Given the description of an element on the screen output the (x, y) to click on. 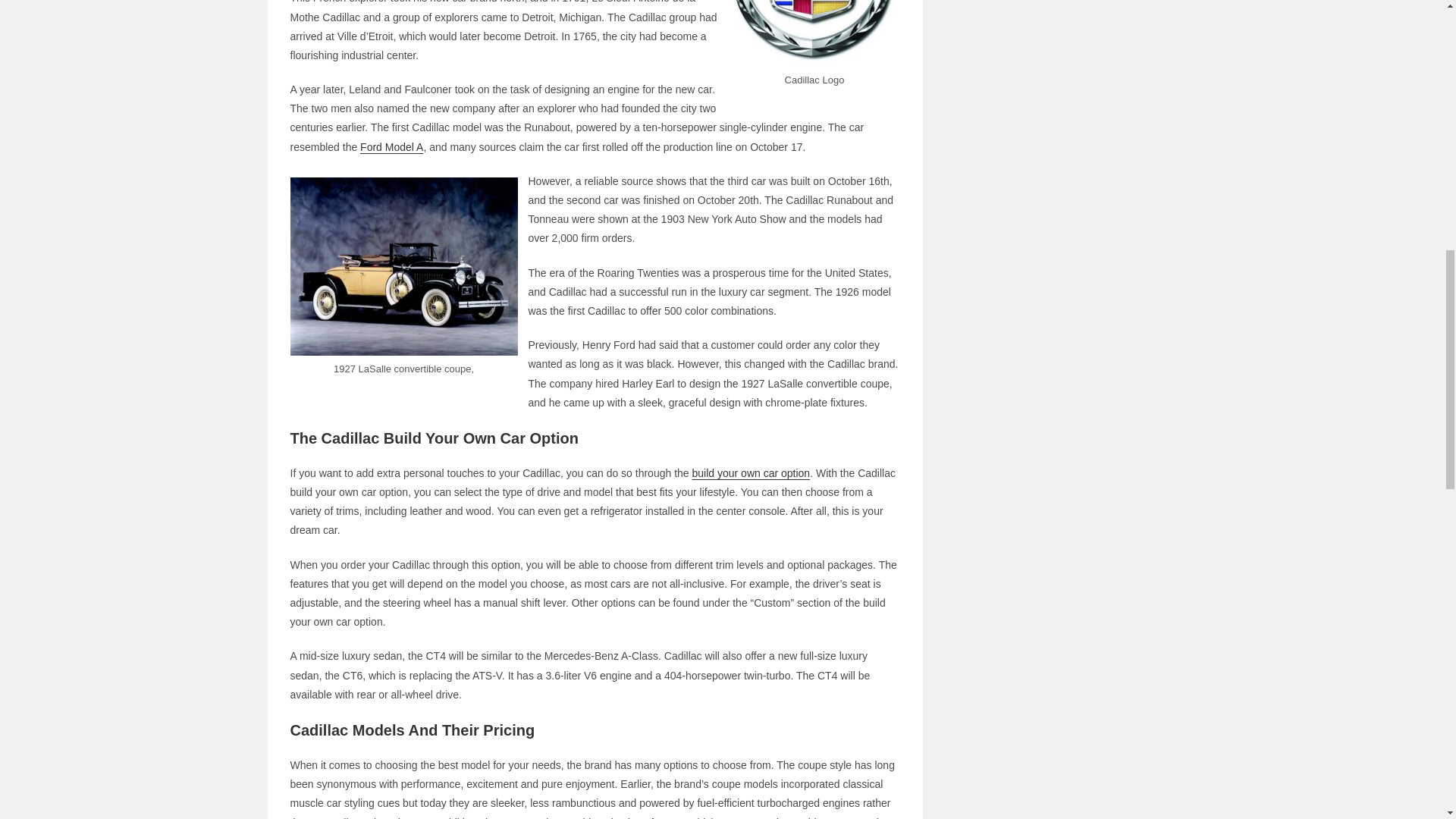
Ford Model A (391, 146)
build your own car option (750, 472)
